Given the description of an element on the screen output the (x, y) to click on. 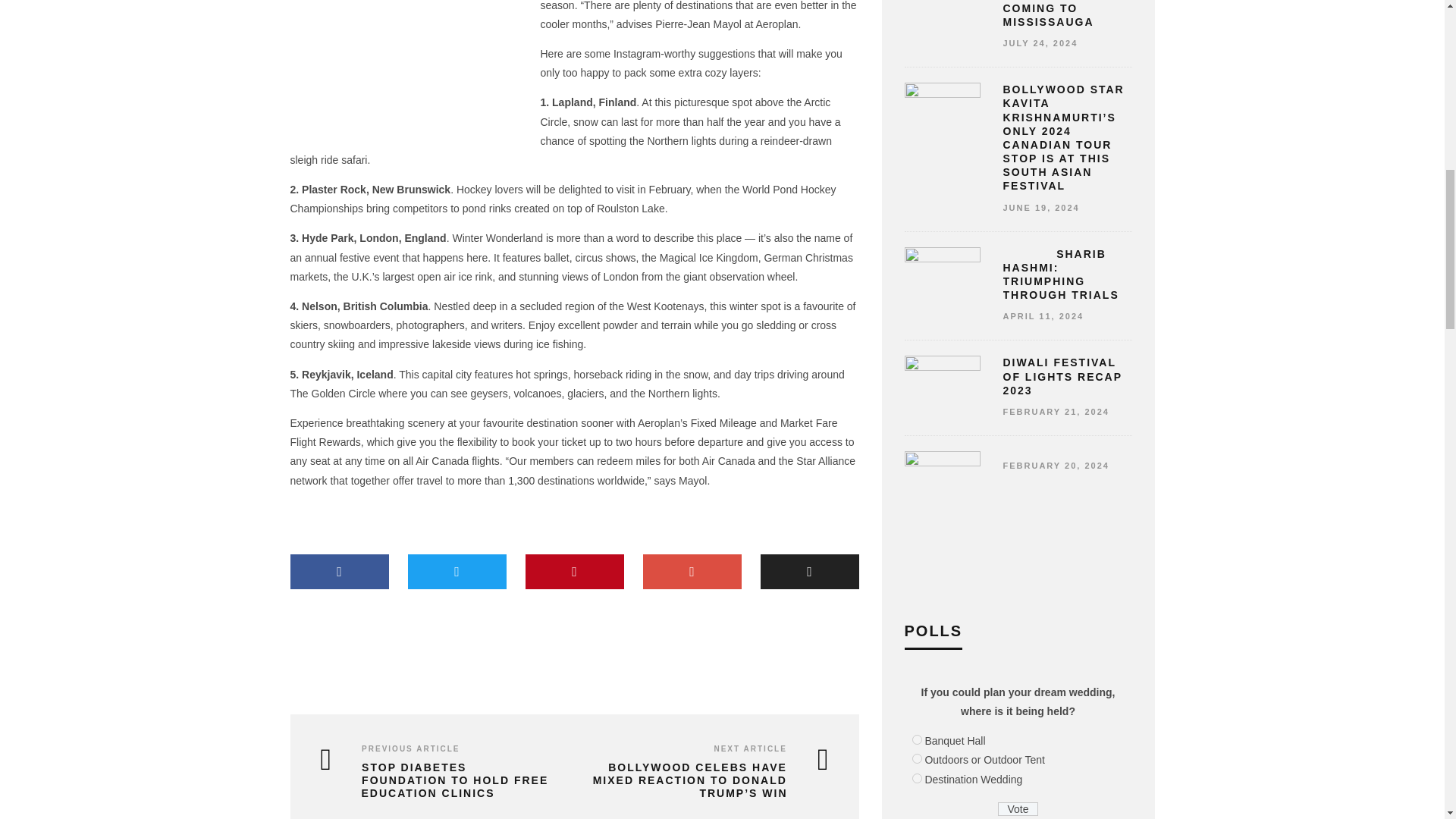
14 (916, 758)
13 (916, 739)
   Vote    (1017, 808)
15 (916, 777)
